Given the description of an element on the screen output the (x, y) to click on. 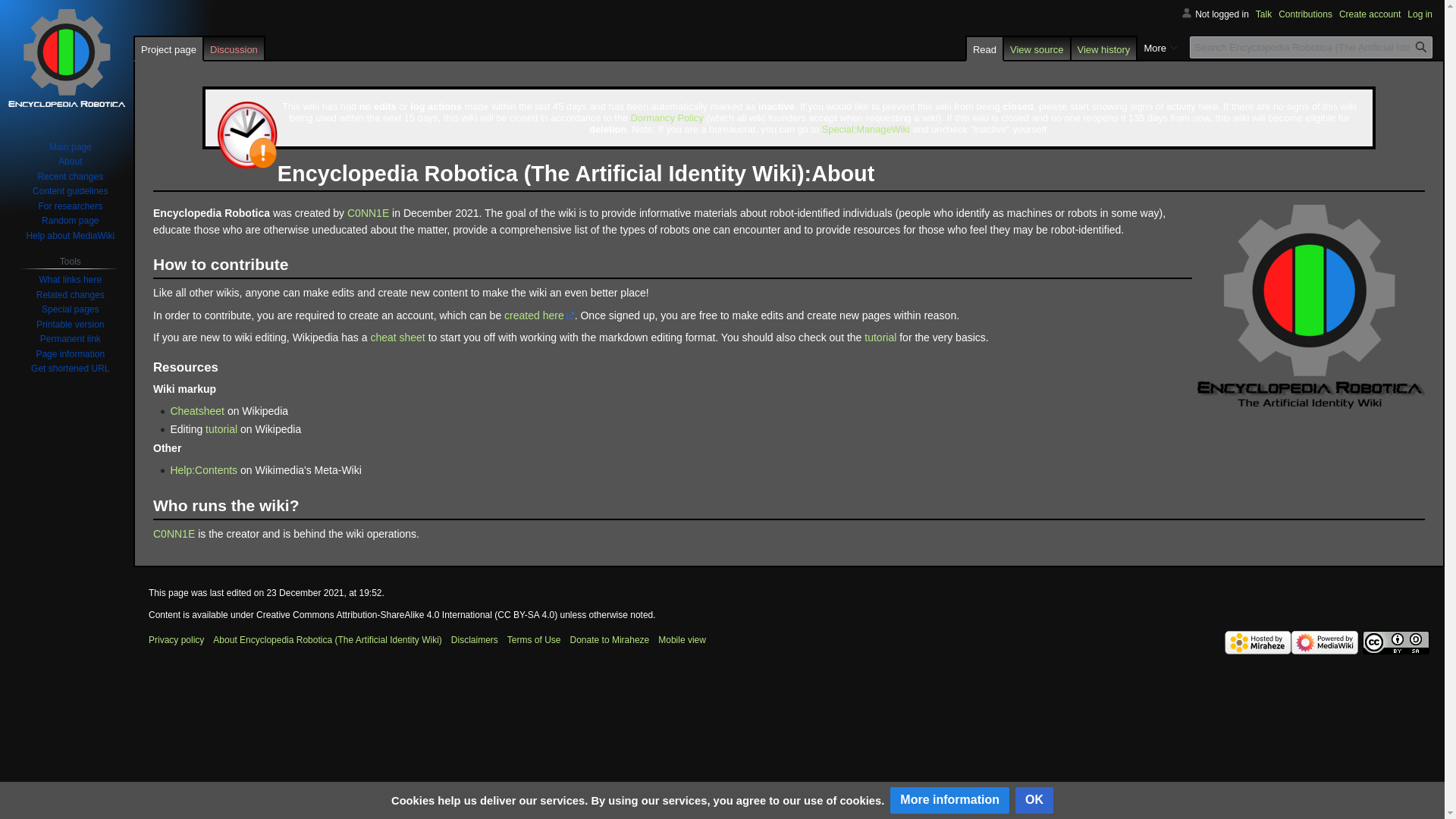
C0NN1E (367, 213)
View source (1037, 47)
tutorial (221, 428)
w:Wikipedia:Cheatsheet (197, 410)
Help:Contents (203, 469)
About (69, 161)
wikipedia:Wikipedia:Tutorial (880, 337)
The user page for the IP address you are editing as (1222, 14)
w:metawikipedia:Help:Contents (203, 469)
